Given the description of an element on the screen output the (x, y) to click on. 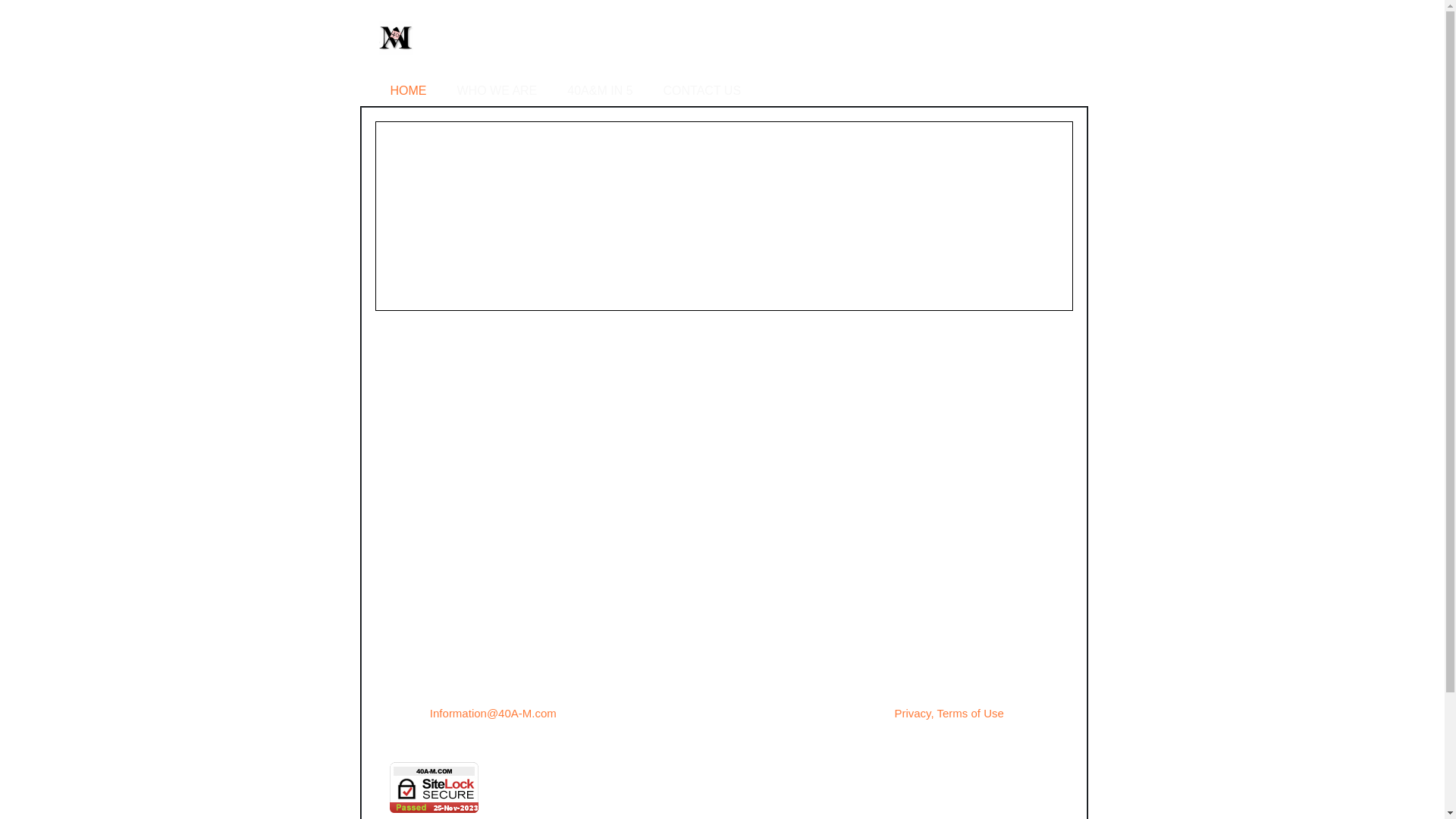
HOME Element type: text (407, 95)
Information@40A-M.com Element type: text (492, 712)
Privacy, Terms of Use Element type: text (948, 712)
40A&M IN 5 Element type: text (599, 95)
CONTACT US Element type: text (702, 95)
WHO WE ARE Element type: text (496, 95)
